Given the description of an element on the screen output the (x, y) to click on. 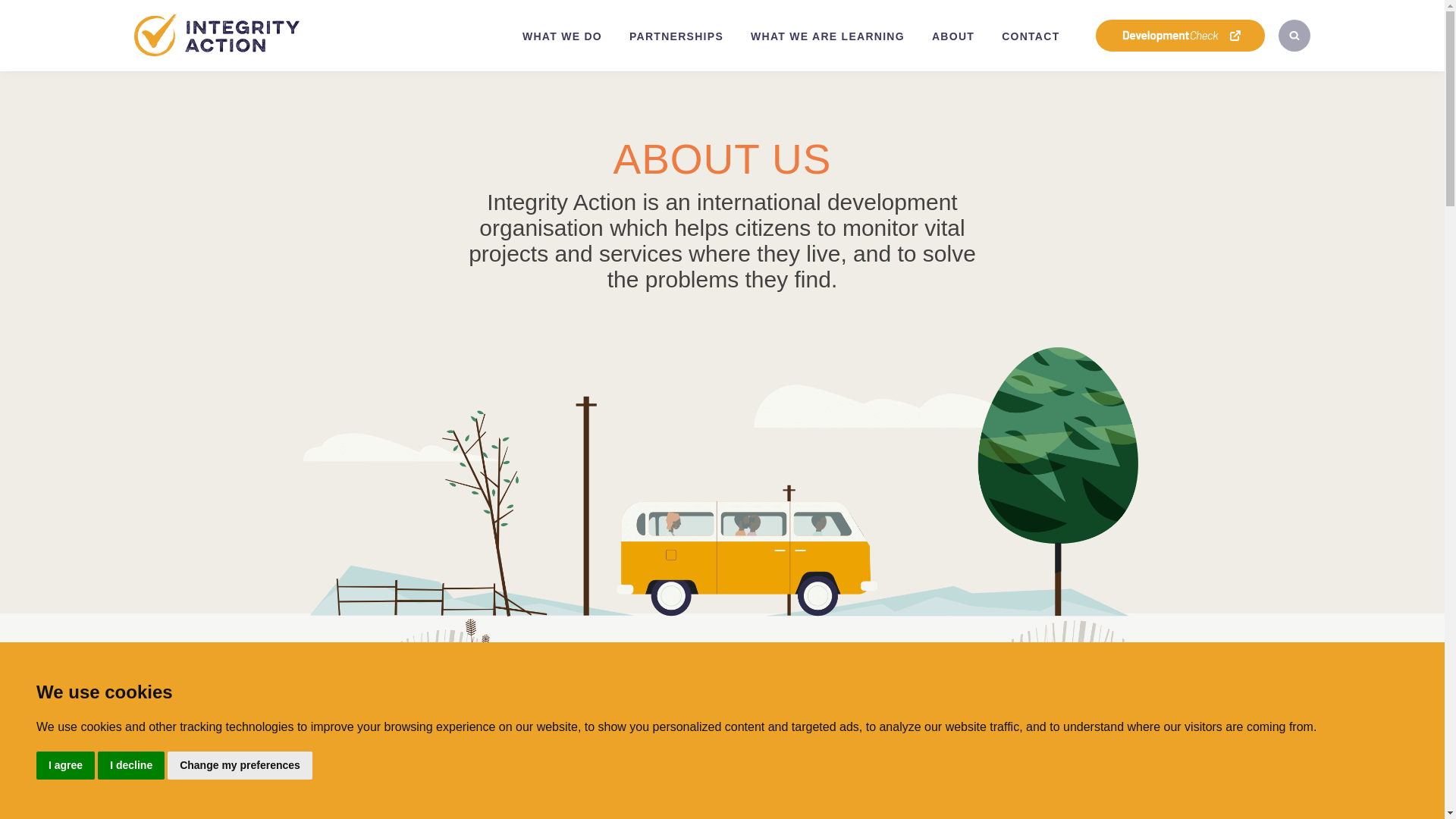
I decline (130, 765)
PARTNERSHIPS (675, 36)
ABOUT (953, 36)
WHAT WE ARE LEARNING (827, 36)
WHAT WE DO (561, 36)
CONTACT (1030, 36)
I agree (65, 765)
SEARCH (1294, 35)
Change my preferences (240, 765)
